Given the description of an element on the screen output the (x, y) to click on. 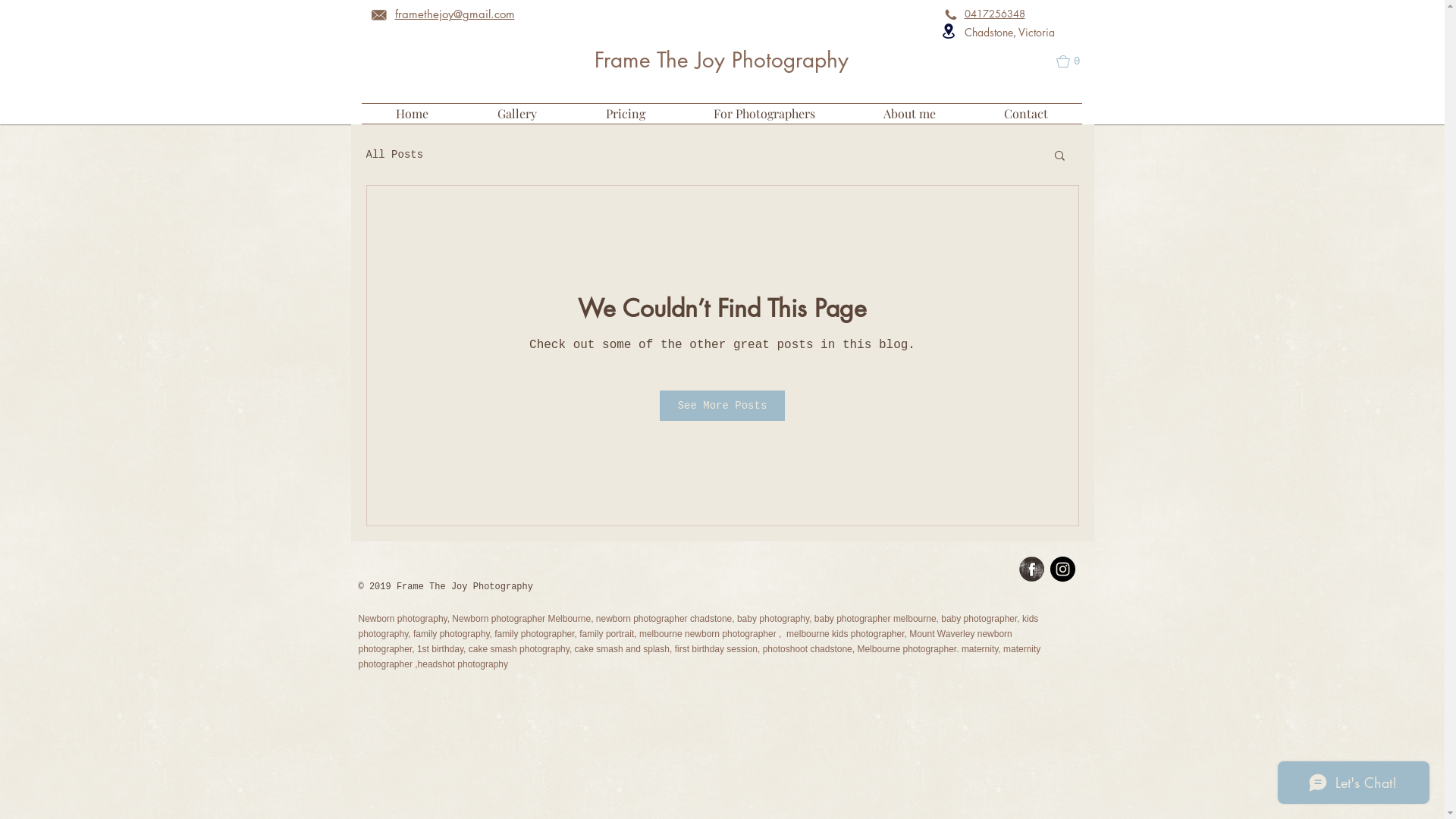
For Photographers Element type: text (764, 113)
About me Element type: text (909, 113)
See More Posts Element type: text (722, 405)
Frame The Joy Photography Element type: text (721, 59)
Gallery Element type: text (516, 113)
All Posts Element type: text (394, 154)
Home Element type: text (411, 113)
0417256348 Element type: text (994, 13)
Contact Element type: text (1025, 113)
framethejoy@gmail.com Element type: text (454, 13)
Pricing Element type: text (625, 113)
